Given the description of an element on the screen output the (x, y) to click on. 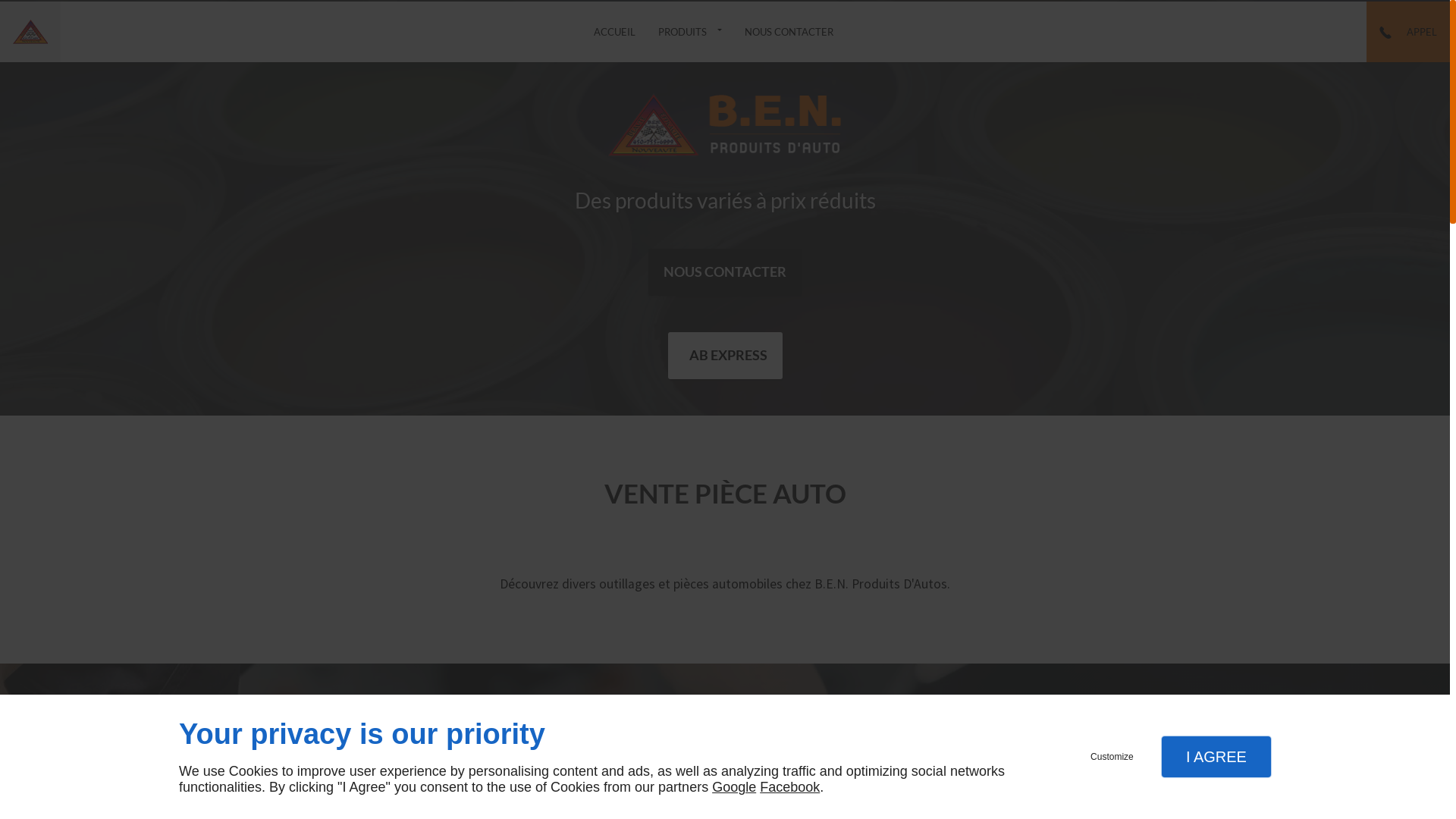
Facebook Element type: text (789, 786)
NOUS CONTACTER Element type: text (724, 271)
AB EXPRESS Element type: text (724, 355)
PRODUITS Element type: text (689, 31)
APPEL Element type: text (1407, 32)
ACCUEIL Element type: text (614, 31)
Google Element type: text (734, 786)
NOUS CONTACTER Element type: text (788, 31)
